Given the description of an element on the screen output the (x, y) to click on. 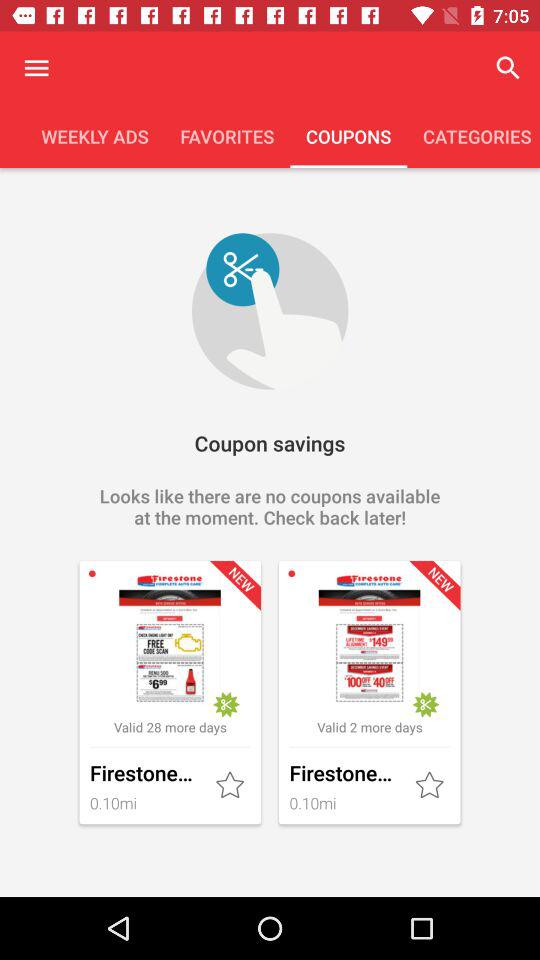
add as favorite (232, 786)
